Given the description of an element on the screen output the (x, y) to click on. 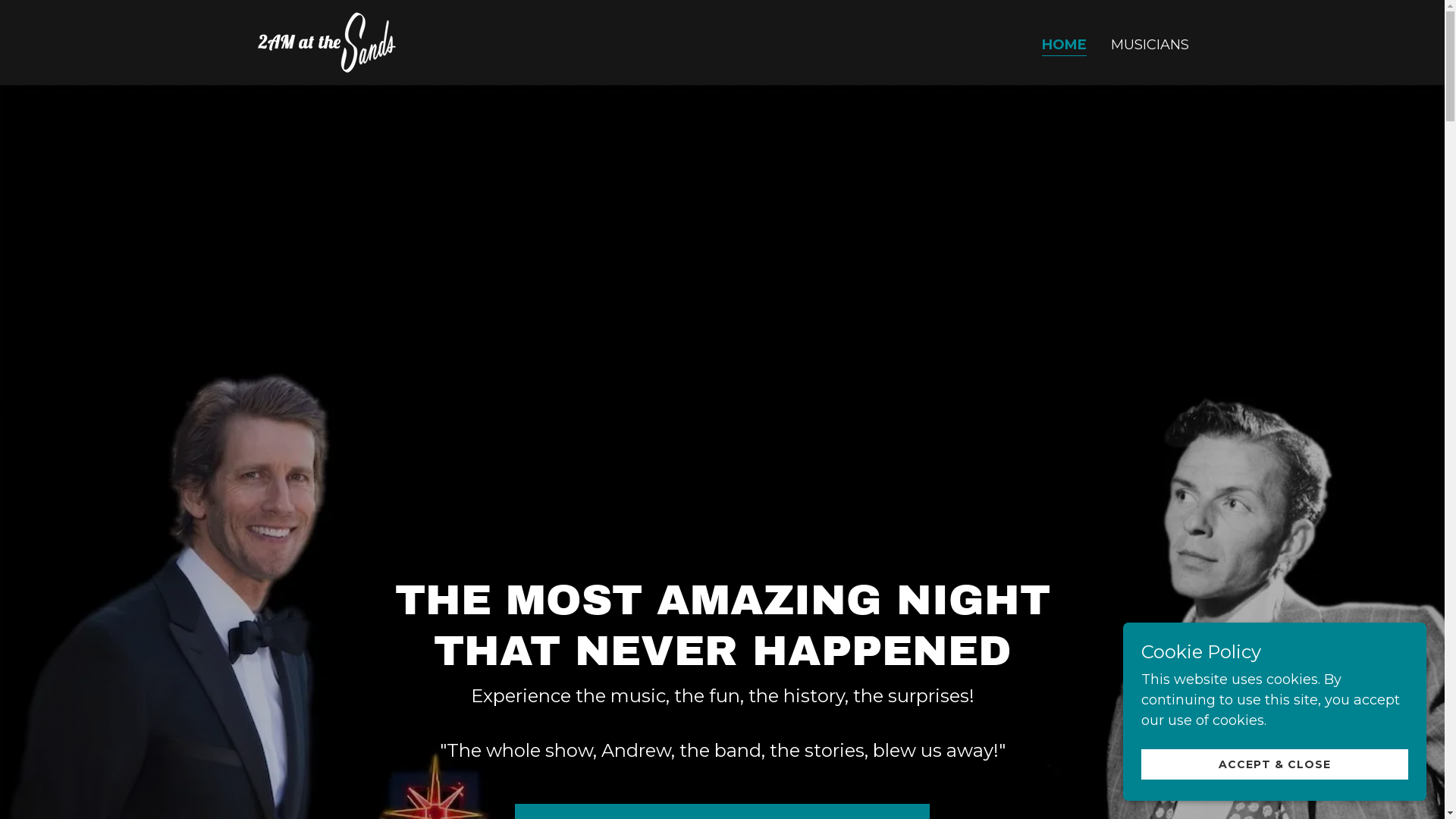
ACCEPT & CLOSE Element type: text (1274, 764)
HOME Element type: text (1063, 44)
2AM At The Sands Element type: hover (324, 41)
MUSICIANS Element type: text (1149, 43)
